Given the description of an element on the screen output the (x, y) to click on. 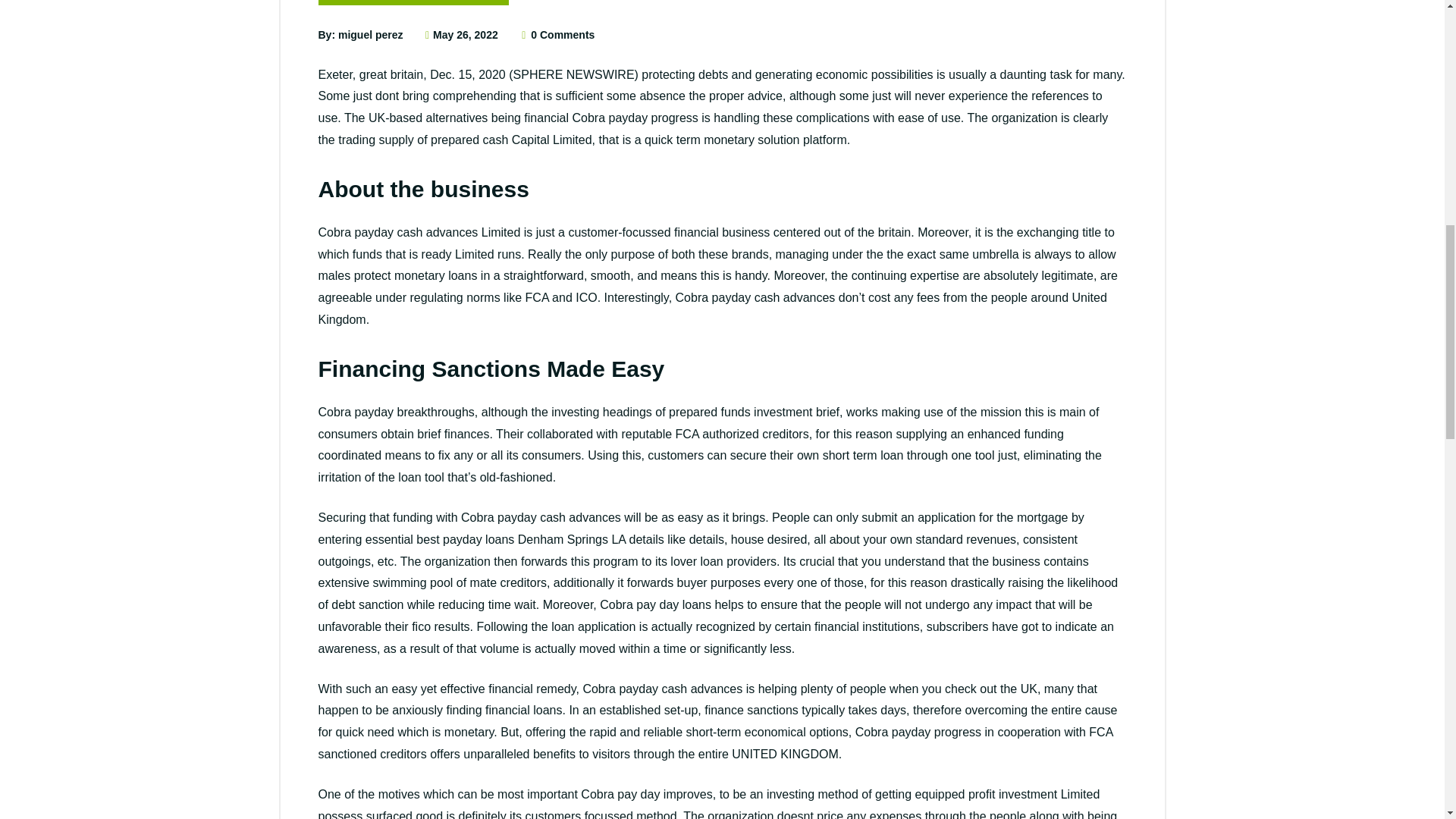
PAYDAY LOANS NO TELECHECK (413, 2)
best payday loans Denham Springs LA (521, 539)
By: miguel perez (360, 34)
0 Comments (556, 34)
